Given the description of an element on the screen output the (x, y) to click on. 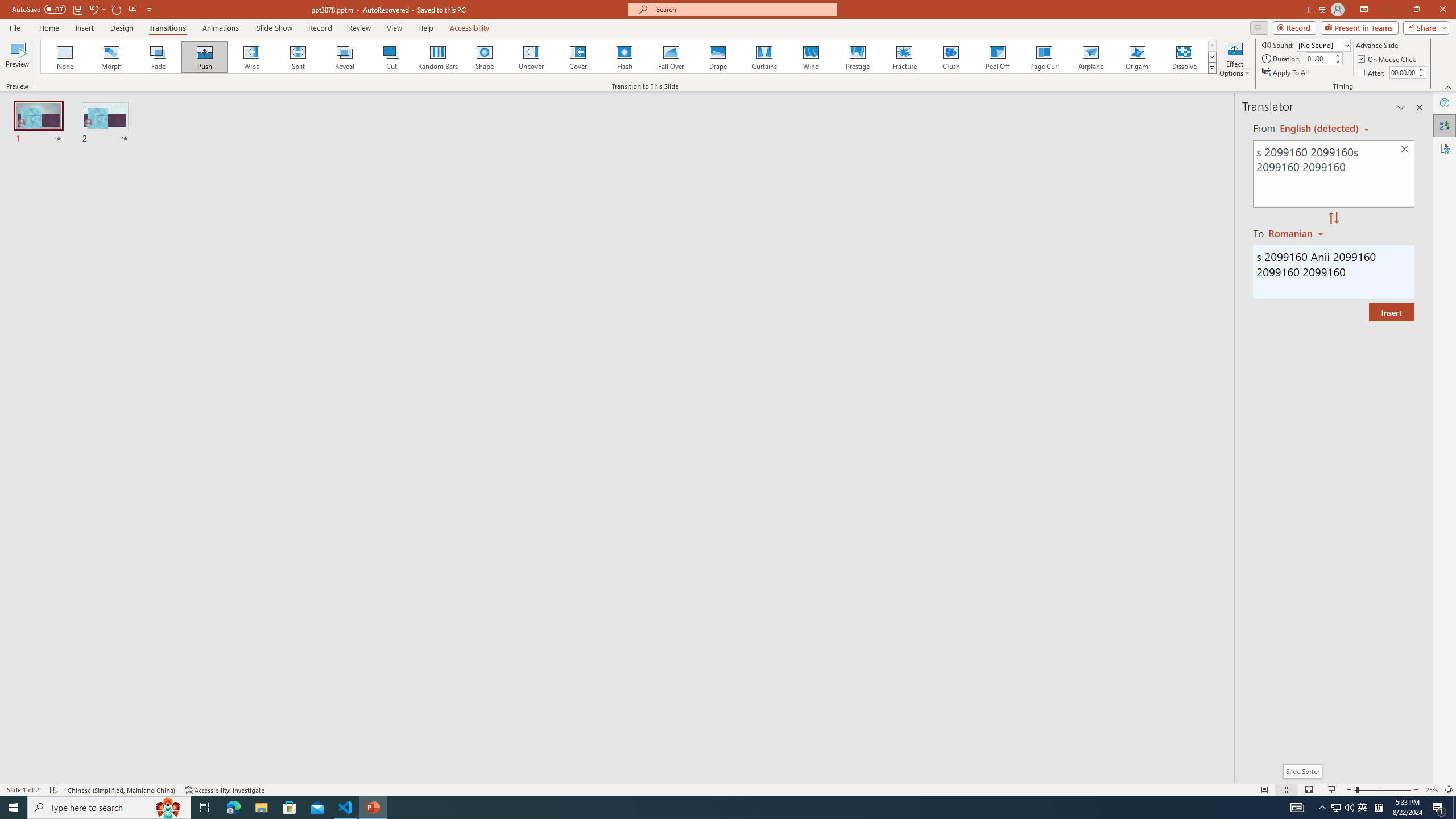
Duration (1319, 58)
Shape (484, 56)
After (1372, 72)
Prestige (857, 56)
Cut (391, 56)
Effect Options (1234, 58)
